Given the description of an element on the screen output the (x, y) to click on. 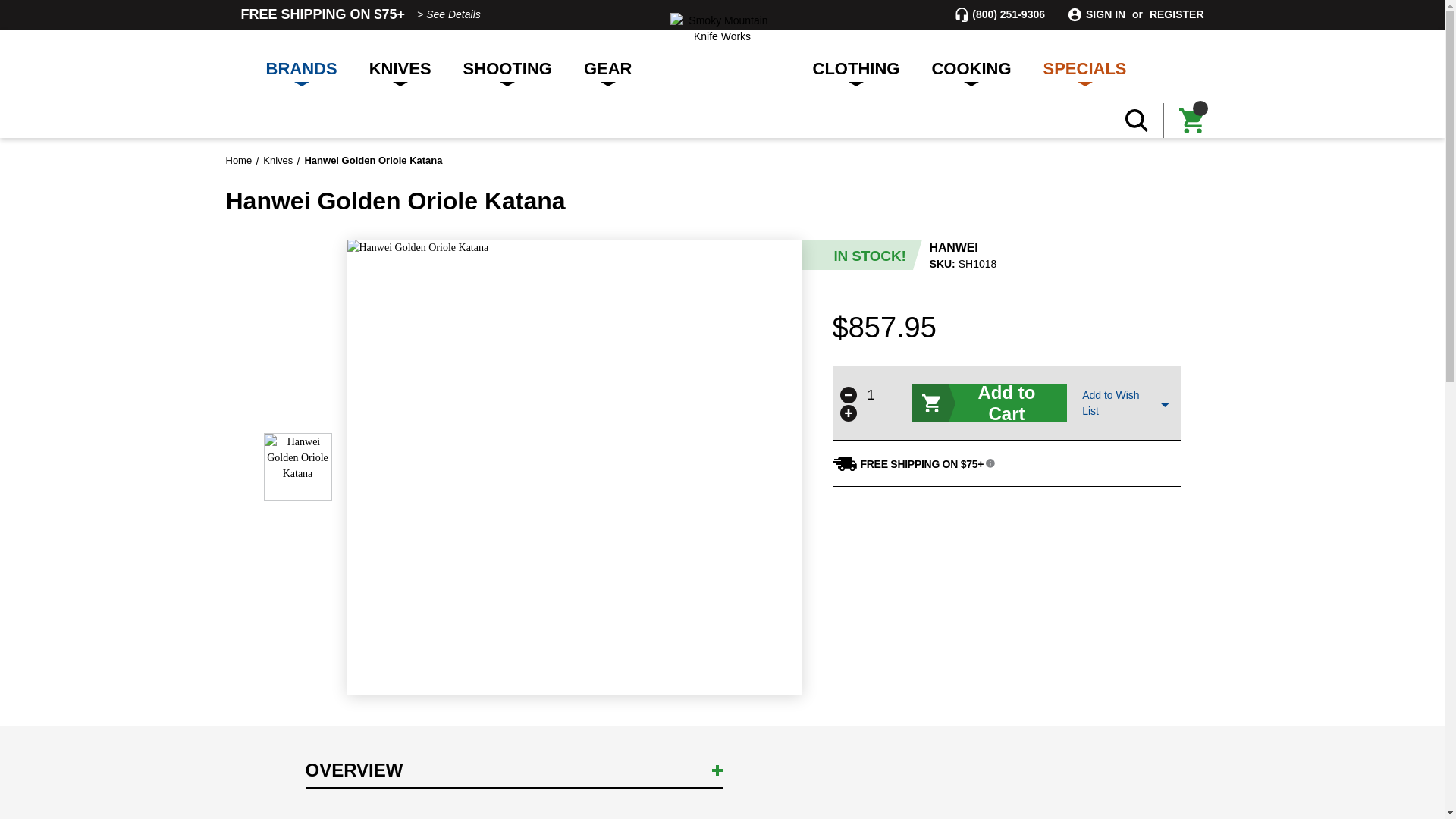
SHOOTING (507, 66)
SIGN IN (1105, 14)
KNIVES (400, 66)
Hanwei Golden Oriole Katana (296, 467)
BRANDS (301, 66)
REGISTER (1177, 14)
1 (871, 394)
Smoky Mountain Knife Works (721, 29)
